Given the description of an element on the screen output the (x, y) to click on. 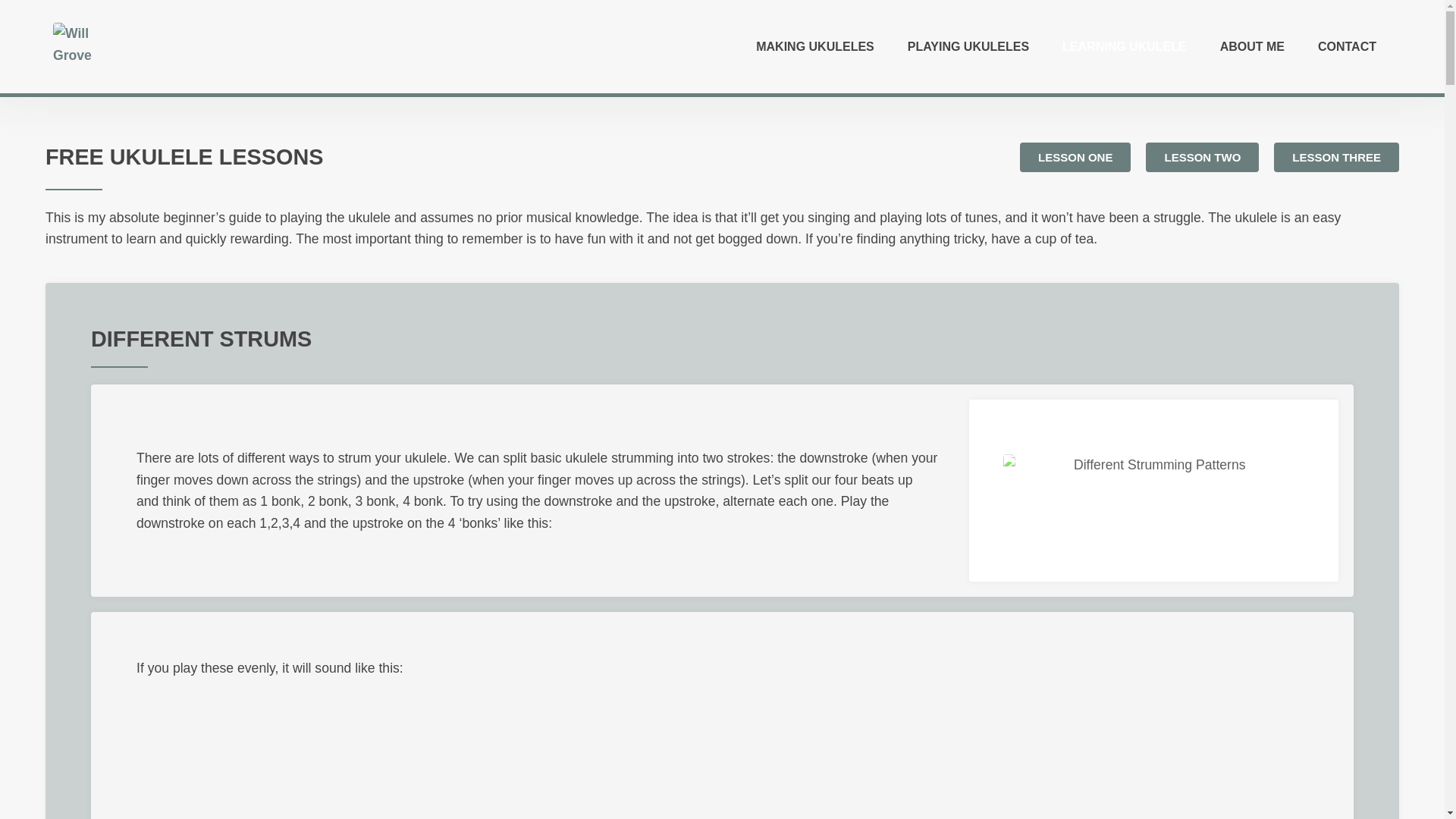
LESSON TWO (1202, 156)
PLAYING UKULELES (967, 46)
CONTACT (1347, 46)
ABOUT ME (1252, 46)
MAKING UKULELES (815, 46)
LEARNING UKULELE (1124, 46)
LESSON ONE (1075, 156)
